Given the description of an element on the screen output the (x, y) to click on. 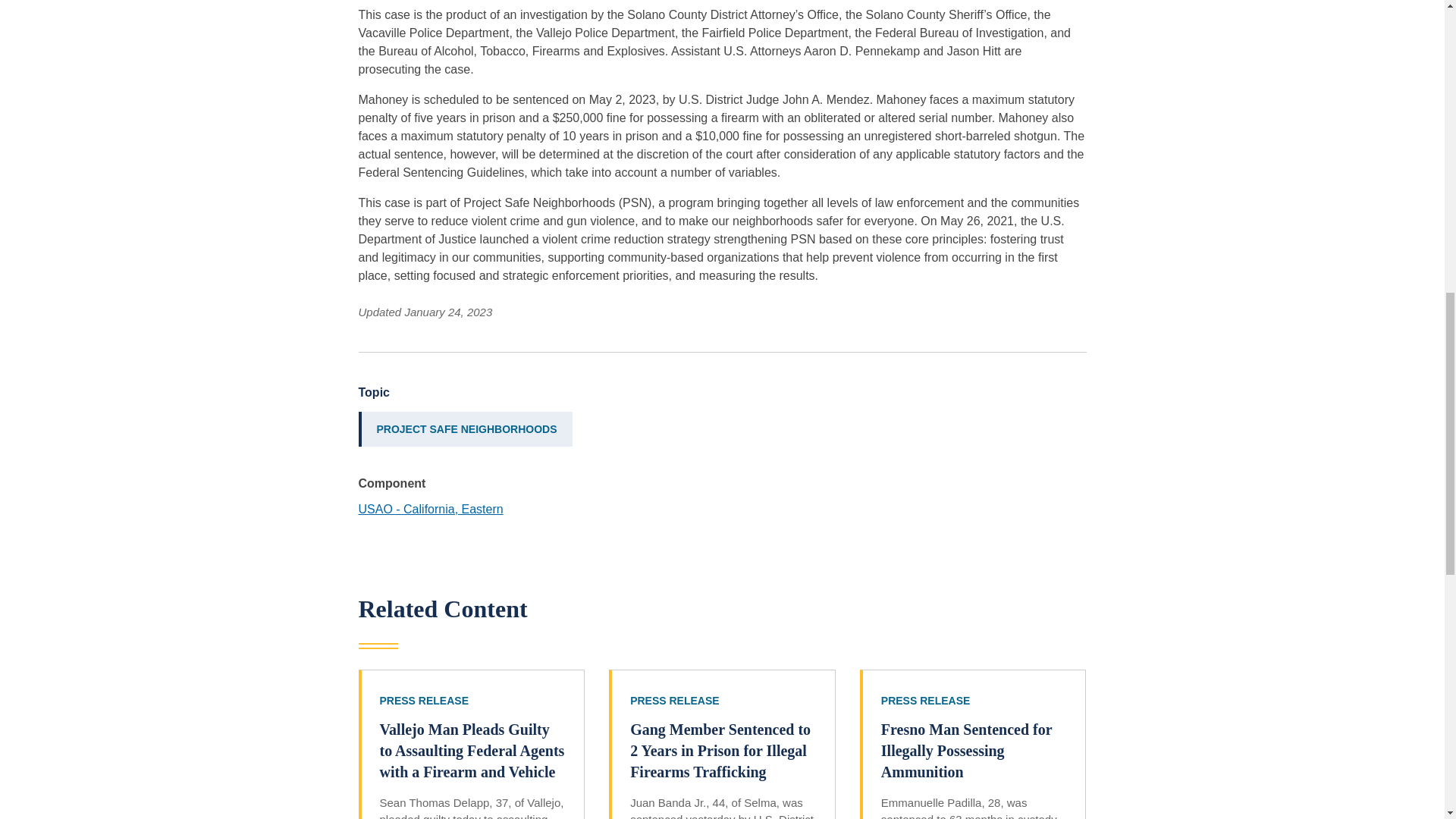
USAO - California, Eastern (430, 508)
